Given the description of an element on the screen output the (x, y) to click on. 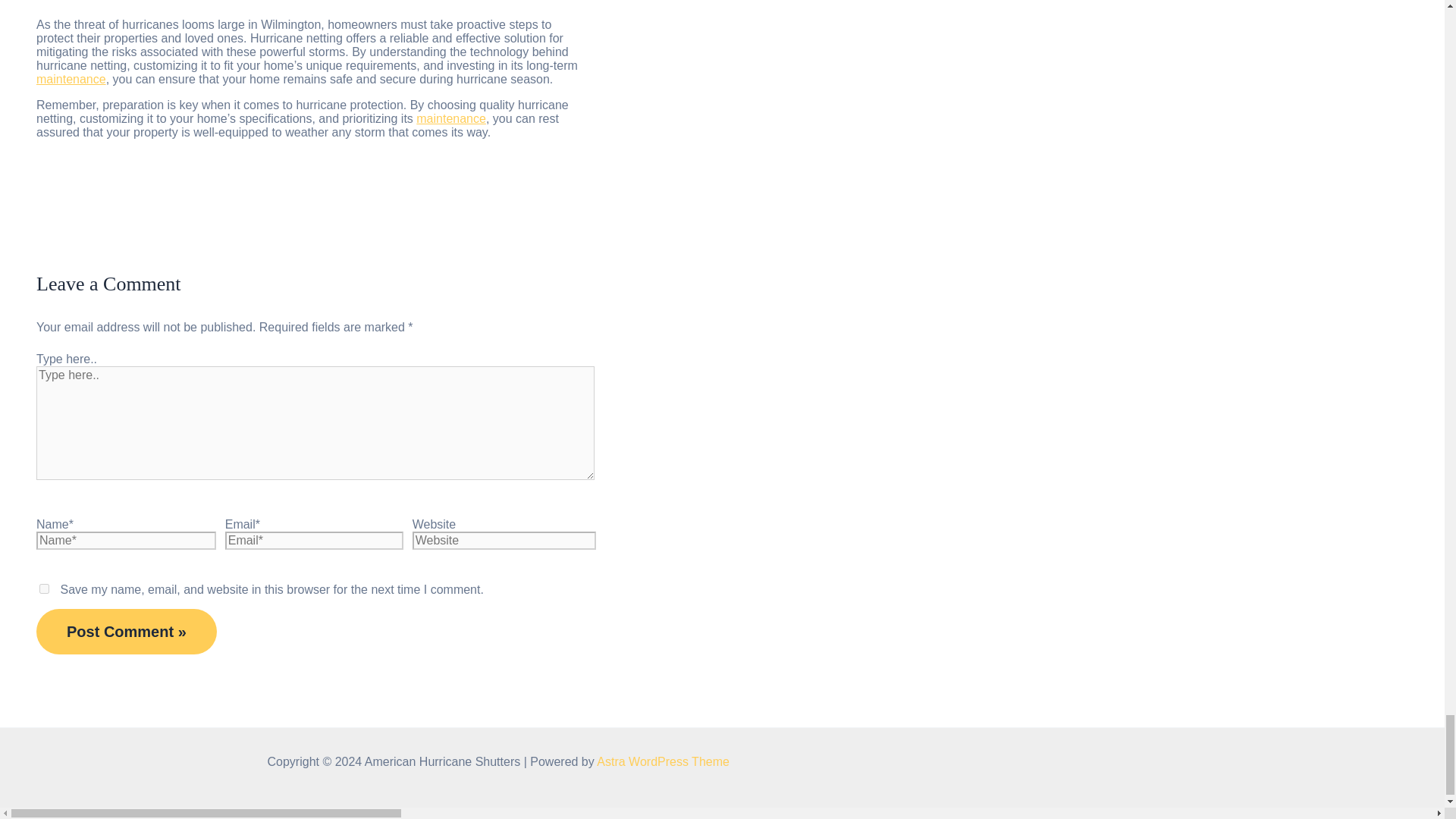
yes (44, 588)
